Given the description of an element on the screen output the (x, y) to click on. 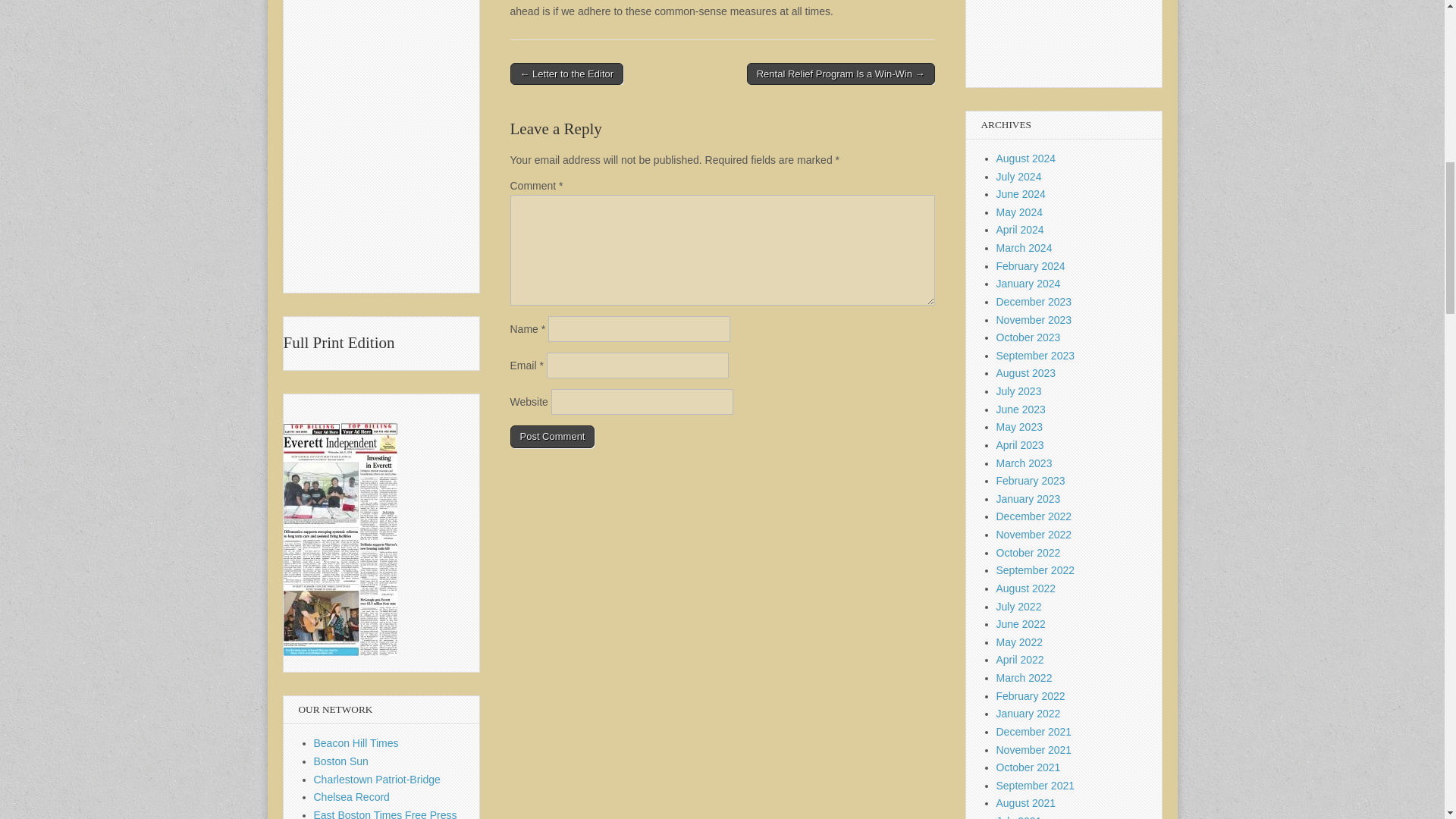
Post Comment (551, 436)
Beacon Hill Times (356, 743)
Charlestown Patriot-Bridge (377, 779)
Chelsea Record (352, 797)
Boston Sun (341, 761)
Post Comment (551, 436)
East Boston Times Free Press (385, 814)
